Given the description of an element on the screen output the (x, y) to click on. 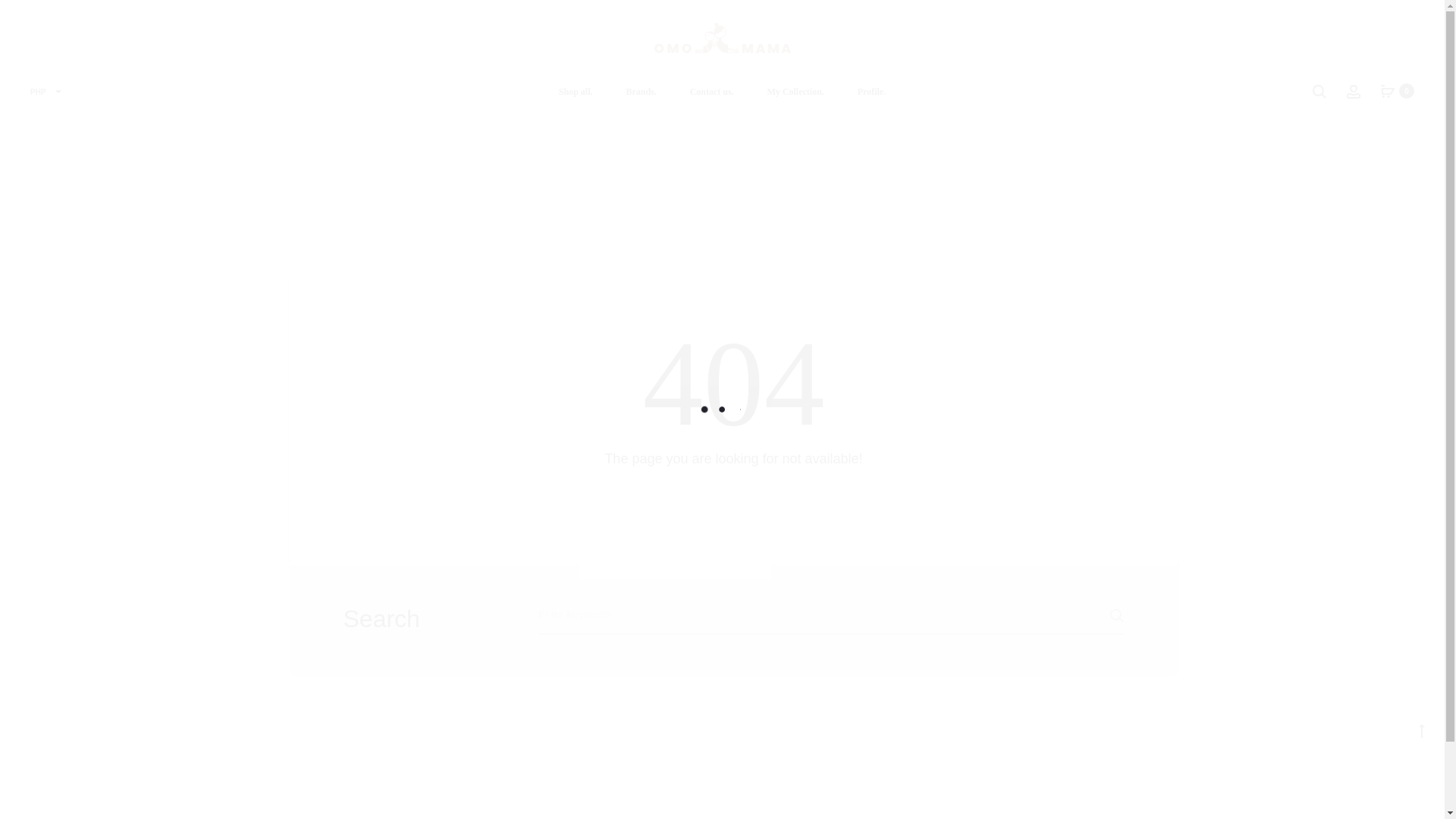
My Collection. (795, 92)
0 (1387, 91)
Contact us. (711, 92)
Search (1086, 614)
Brands. (641, 92)
Shop all. (575, 92)
Account (1353, 91)
Profile. (871, 92)
Search (1318, 91)
